Given the description of an element on the screen output the (x, y) to click on. 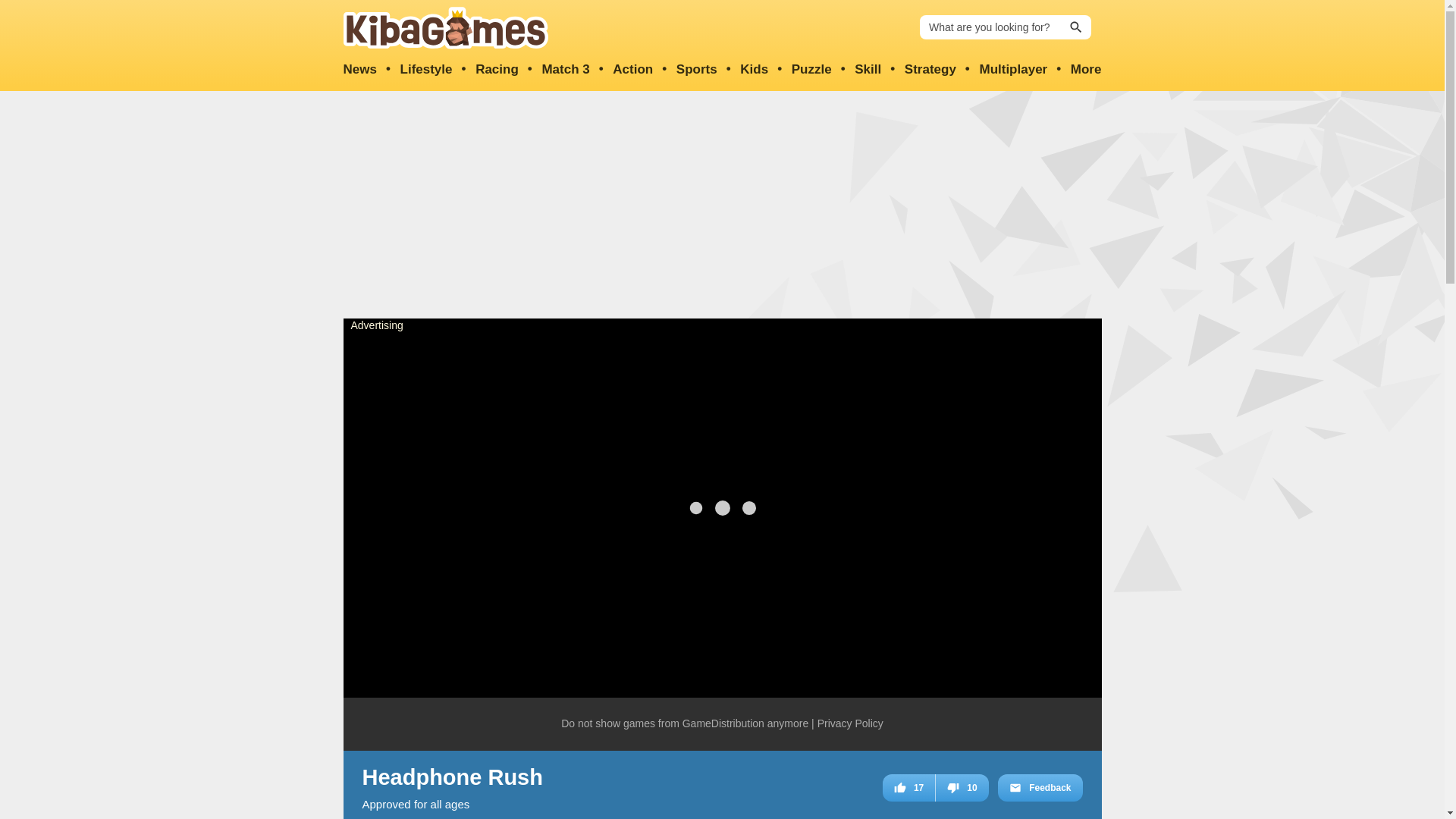
News (358, 69)
Multiplayer (1012, 69)
10 (962, 787)
Privacy Policy (849, 724)
Dislike (962, 787)
17 (909, 787)
Feedback (1039, 787)
Lifestyle (426, 69)
Match 3 (565, 69)
More (1086, 69)
Do not show games from GameDistribution anymore (684, 724)
Strategy (930, 69)
Like (909, 787)
Sports (697, 69)
Racing (497, 69)
